Given the description of an element on the screen output the (x, y) to click on. 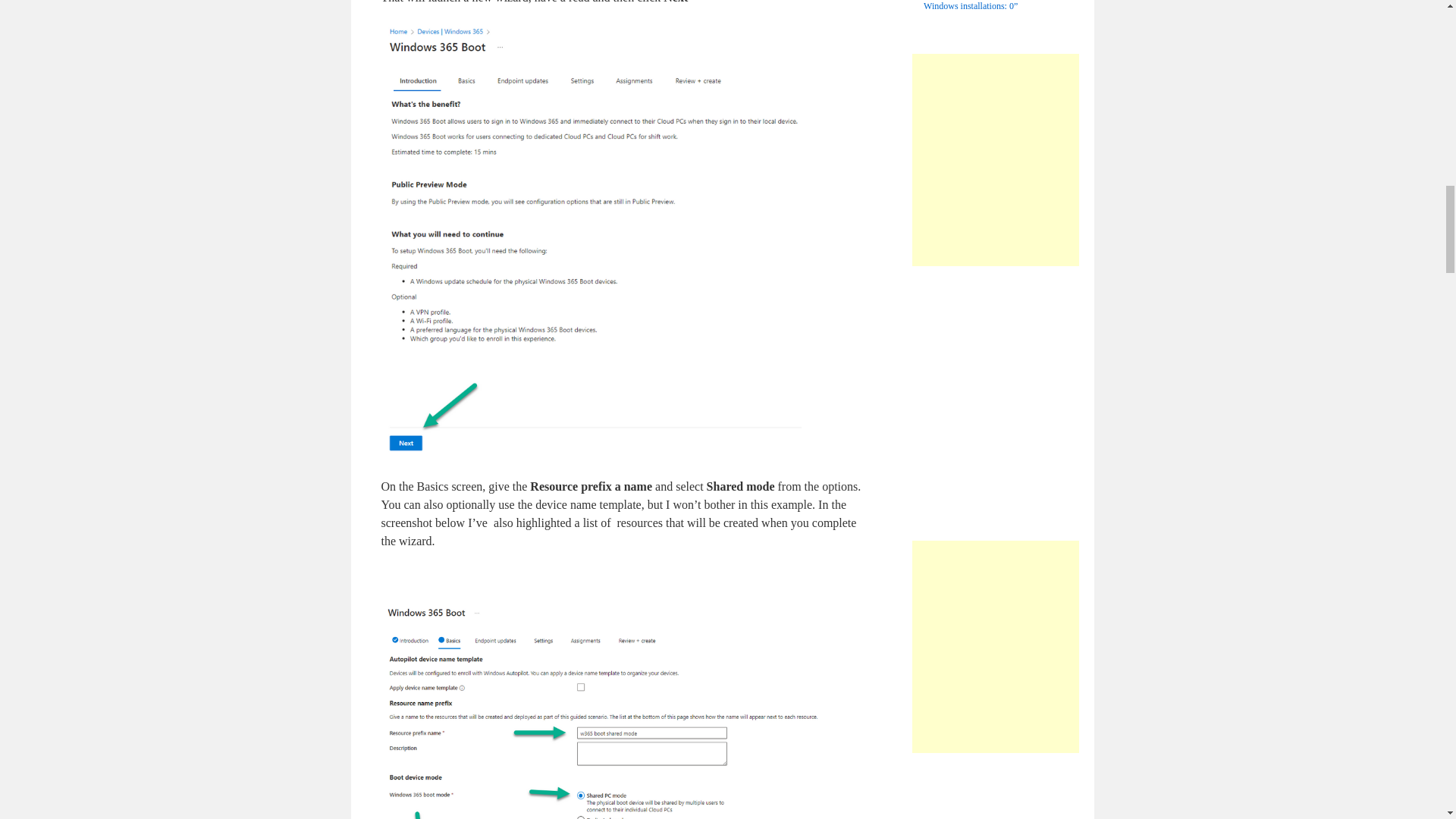
Advertisement (1038, 794)
Advertisement (1038, 389)
